Given the description of an element on the screen output the (x, y) to click on. 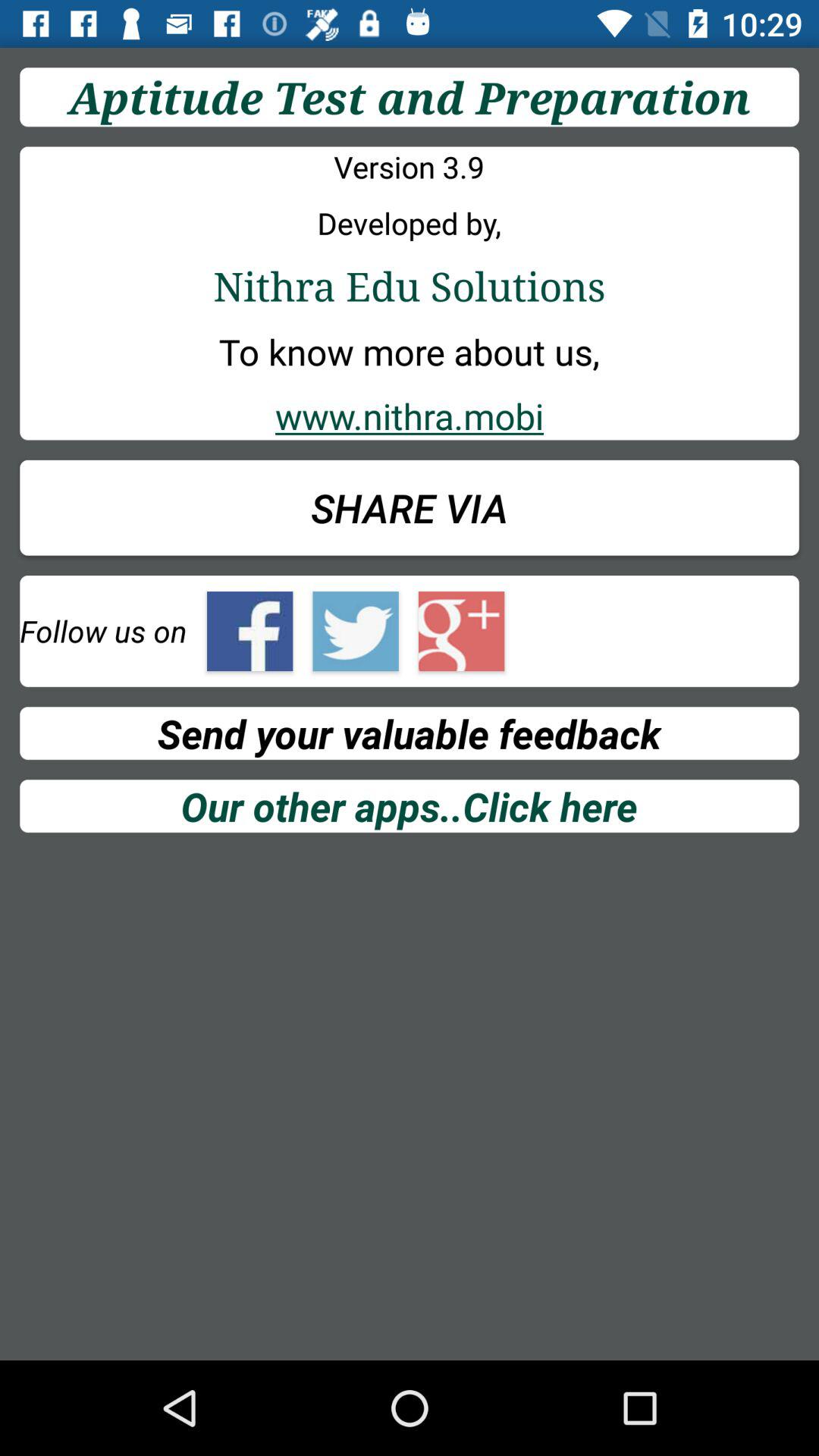
follow on google+ (461, 631)
